Given the description of an element on the screen output the (x, y) to click on. 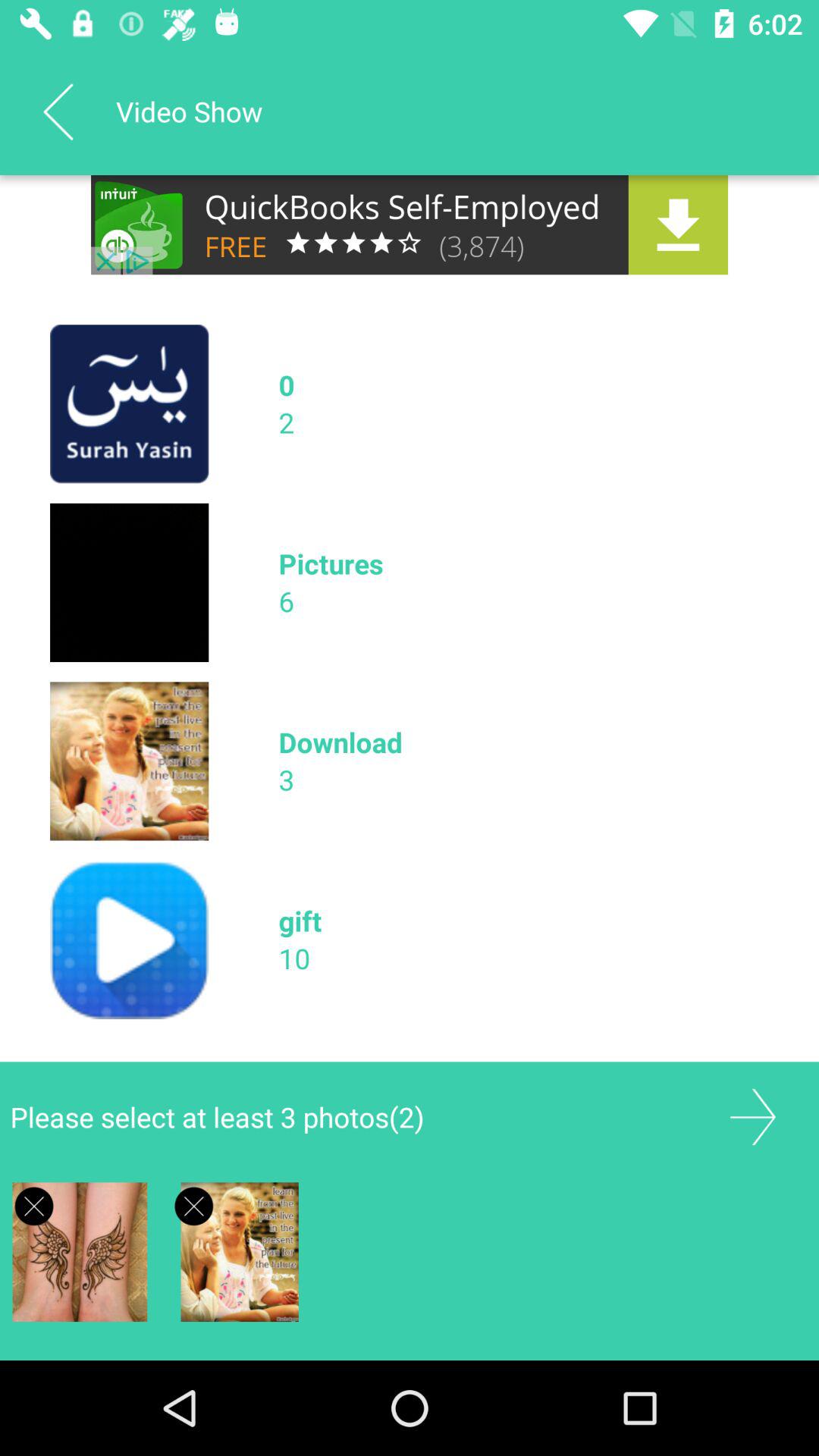
close the advertisement (34, 1206)
